Given the description of an element on the screen output the (x, y) to click on. 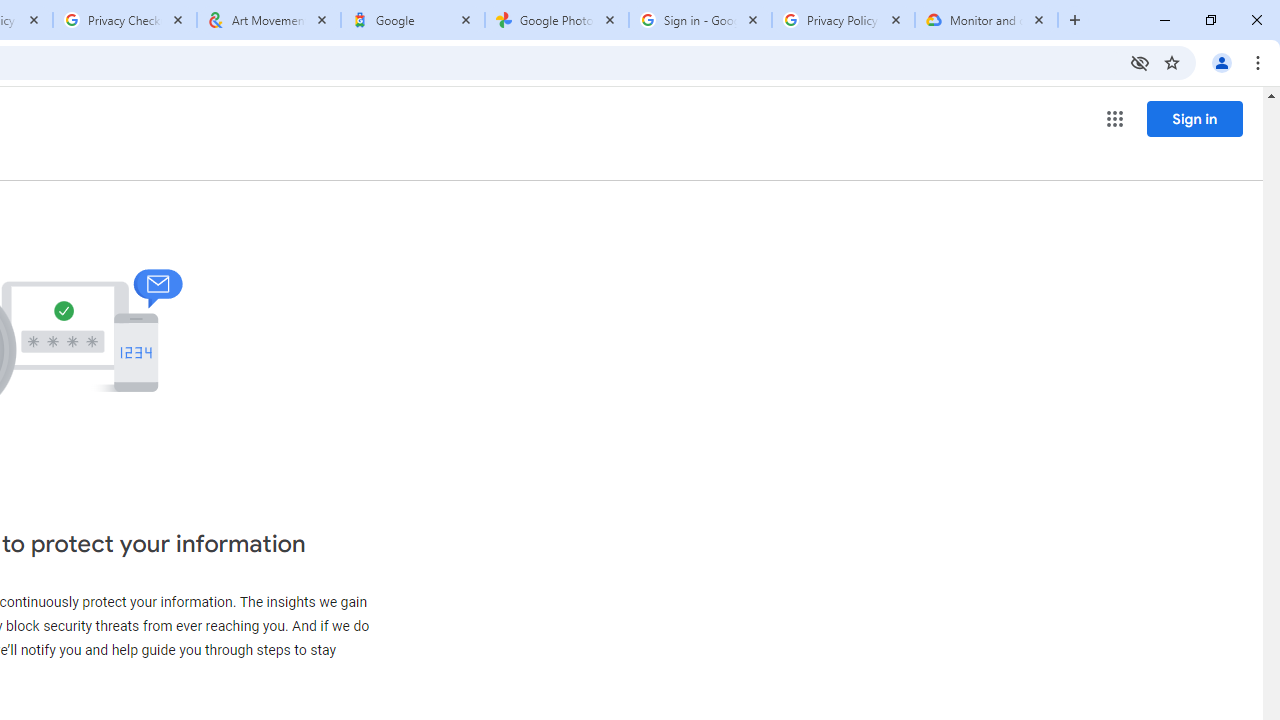
Privacy Checkup (124, 20)
Google (412, 20)
Sign in - Google Accounts (699, 20)
